Given the description of an element on the screen output the (x, y) to click on. 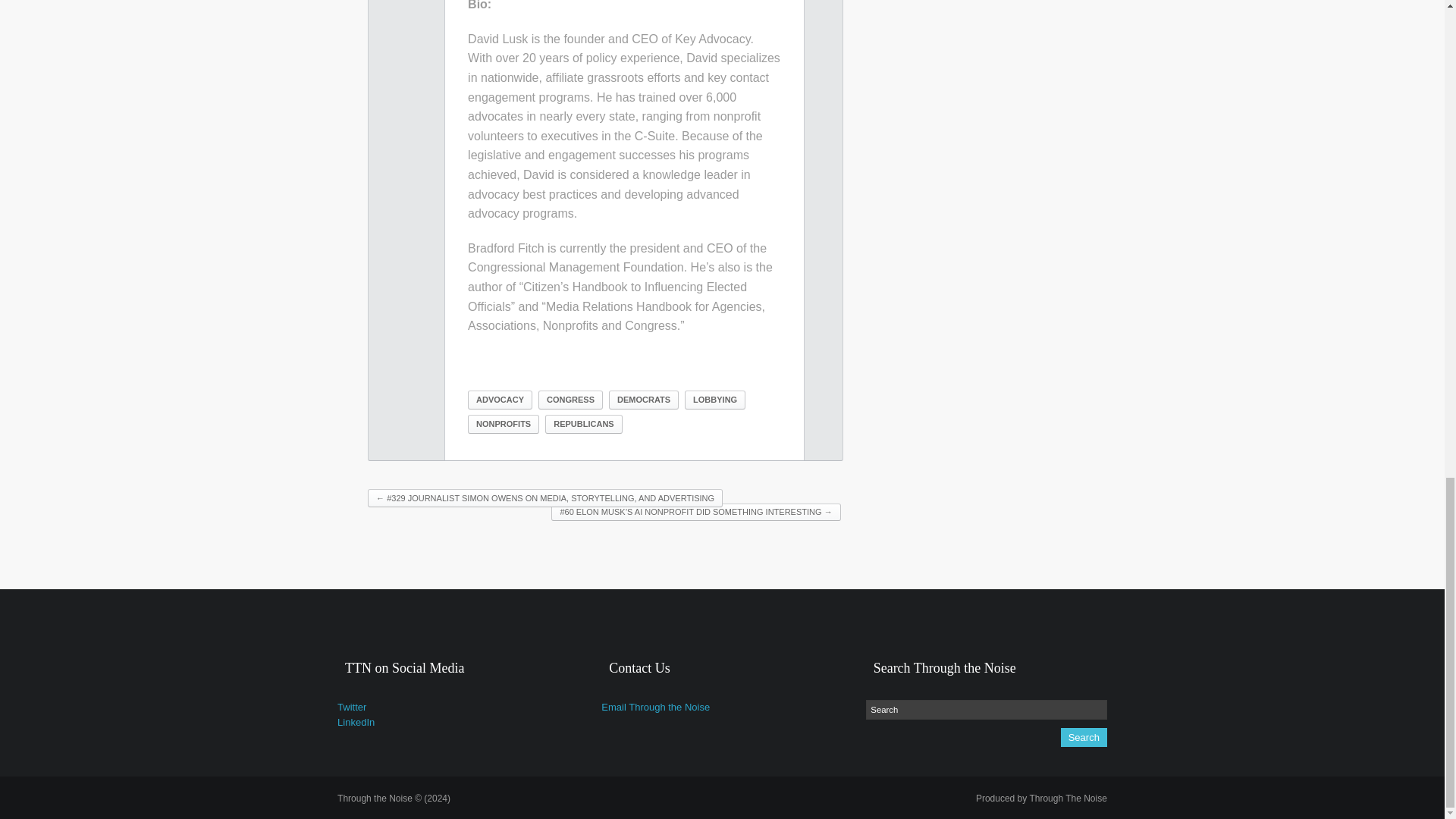
LOBBYING (714, 399)
Search (1083, 737)
Produced by Through The Noise (1040, 798)
Search (986, 709)
LinkedIn (355, 722)
REPUBLICANS (582, 424)
Email Through the Noise (655, 706)
DEMOCRATS (643, 399)
Twitter (351, 706)
NONPROFITS (502, 424)
